Given the description of an element on the screen output the (x, y) to click on. 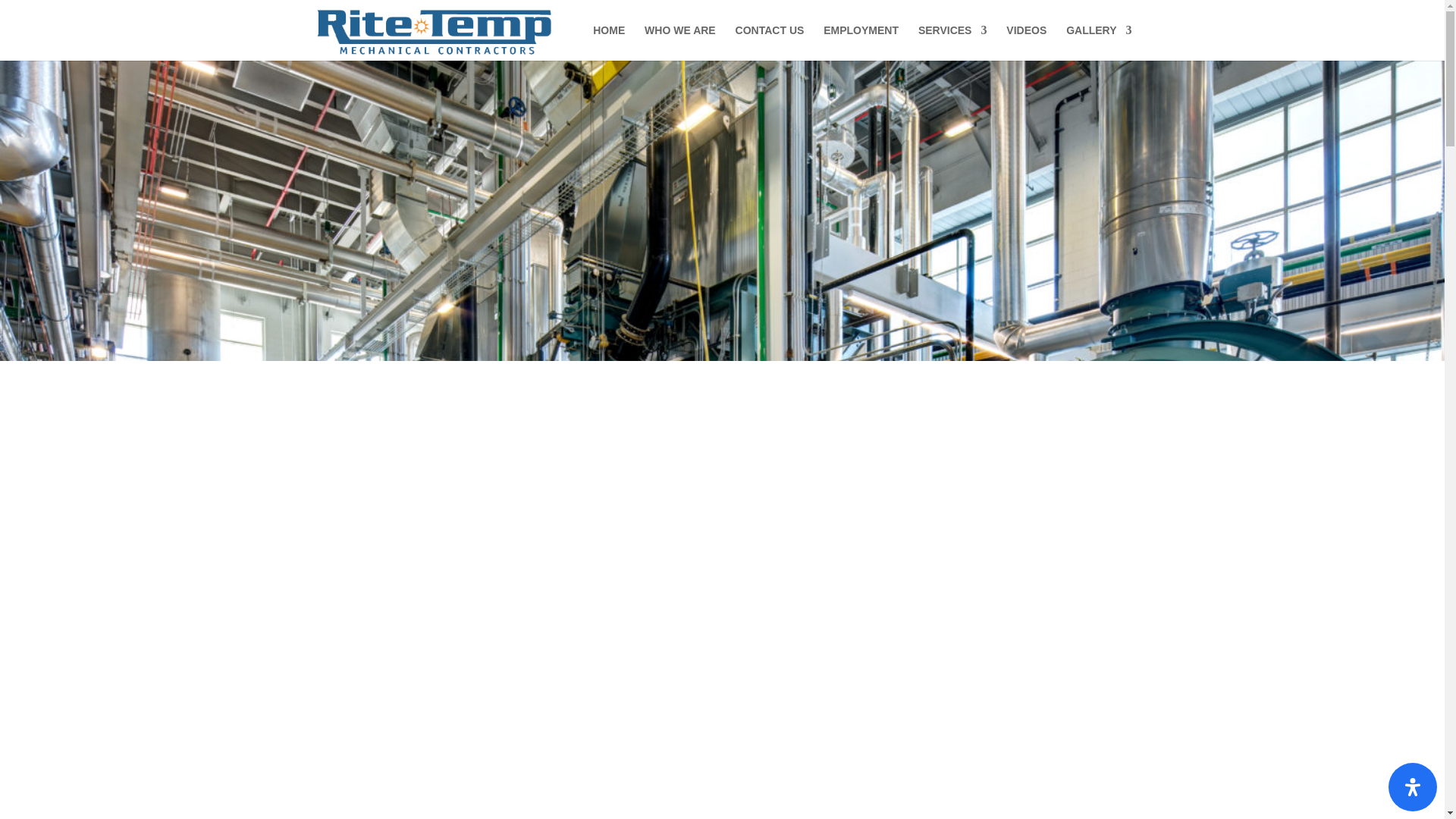
SERVICES (952, 42)
VIDEOS (1026, 42)
EMPLOYMENT (861, 42)
WHO WE ARE (680, 42)
HOME (608, 42)
CONTACT US (770, 42)
Accessibility (1413, 786)
GALLERY (1098, 42)
